Given the description of an element on the screen output the (x, y) to click on. 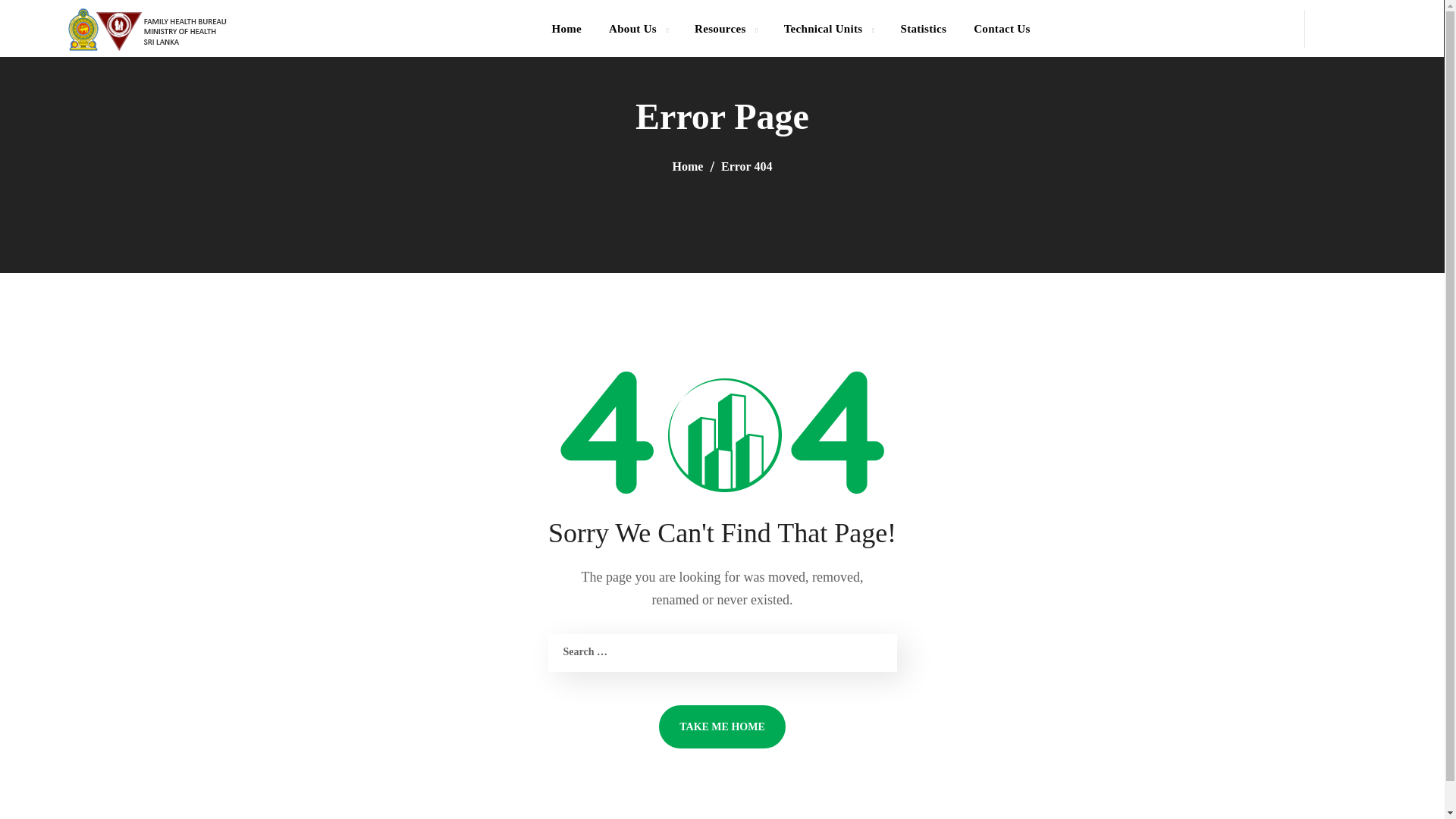
Contact Us (1001, 28)
Search (1381, 94)
FHBlogo11 (146, 28)
Technical Units (828, 28)
Resources (725, 28)
Home (566, 28)
About Us (638, 28)
Statistics (922, 28)
